Given the description of an element on the screen output the (x, y) to click on. 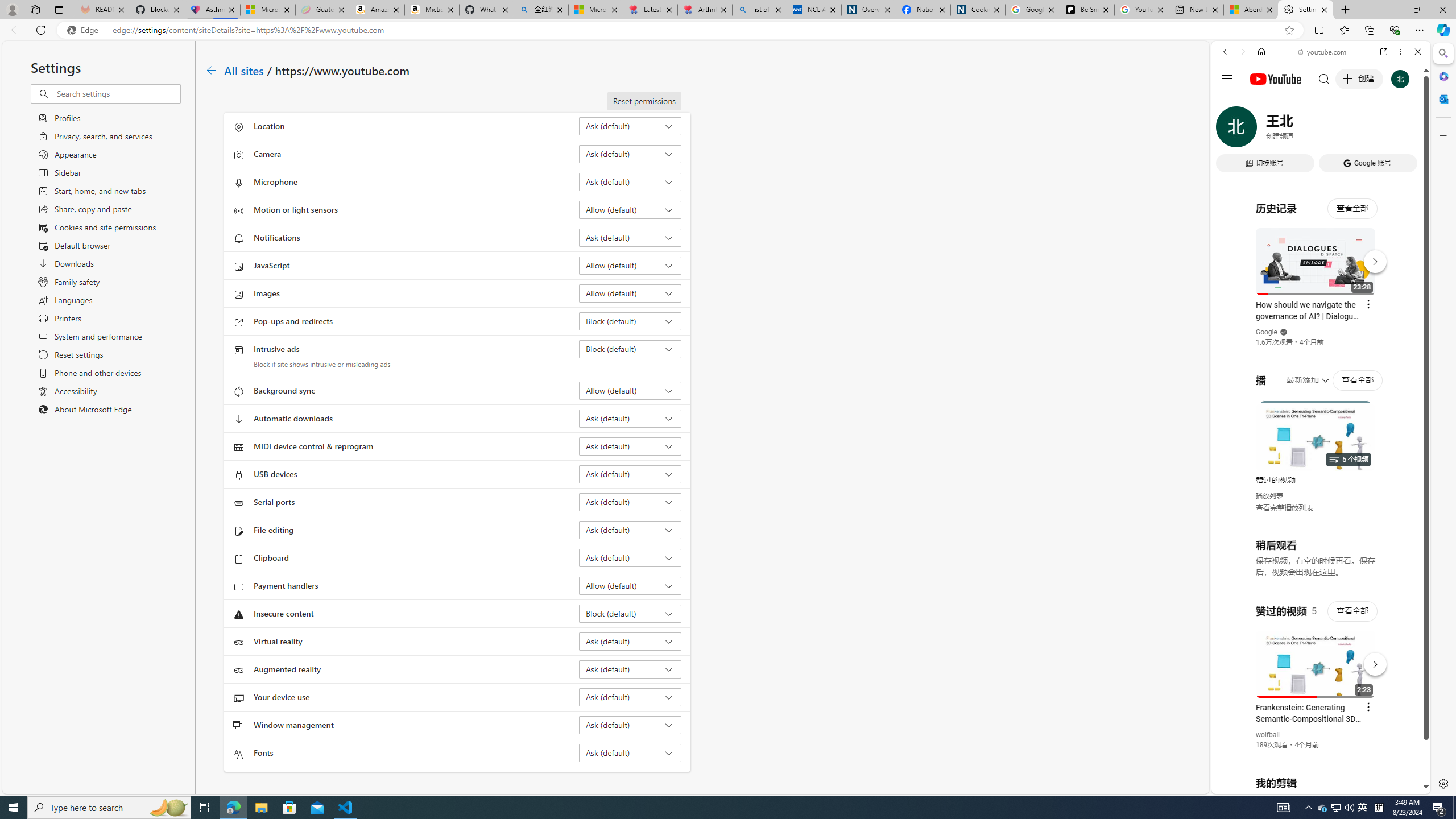
Fonts Ask (default) (630, 752)
Microphone Ask (default) (630, 181)
Search Filter, VIDEOS (1300, 129)
Music (1320, 309)
YouTube - YouTube (1315, 560)
YouTube (1315, 655)
wolfball (1268, 734)
youtube.com (1322, 51)
